Given the description of an element on the screen output the (x, y) to click on. 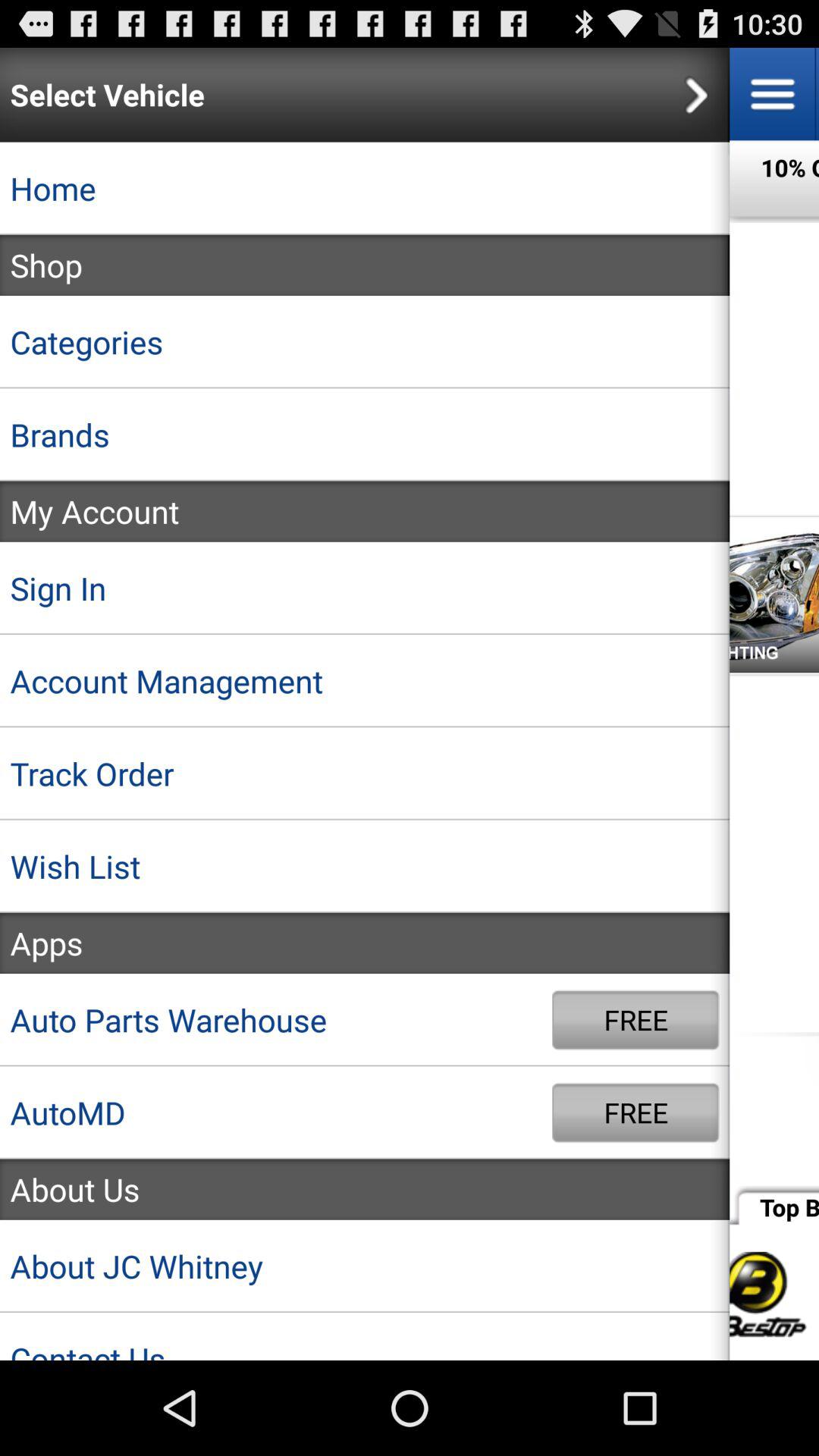
jump to the sign in app (364, 588)
